Given the description of an element on the screen output the (x, y) to click on. 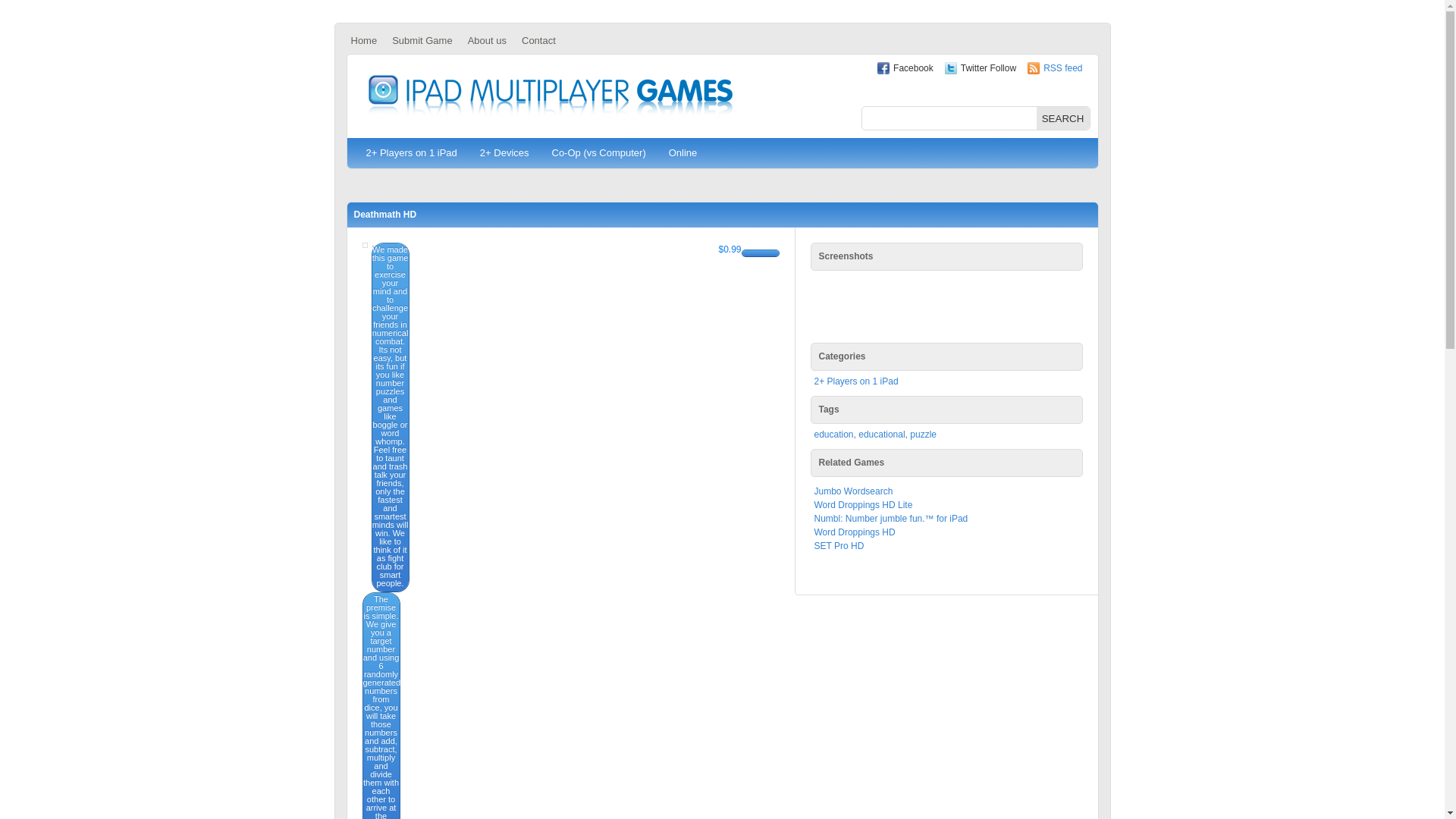
iPad Multiplayer Games (550, 96)
education (833, 434)
SEARCH (1062, 118)
Home (363, 40)
educational (881, 434)
SET Pro HD (838, 545)
Contact (538, 40)
RSS feed (1062, 68)
puzzle (923, 434)
iPad Multiplayer Games (550, 96)
